Given the description of an element on the screen output the (x, y) to click on. 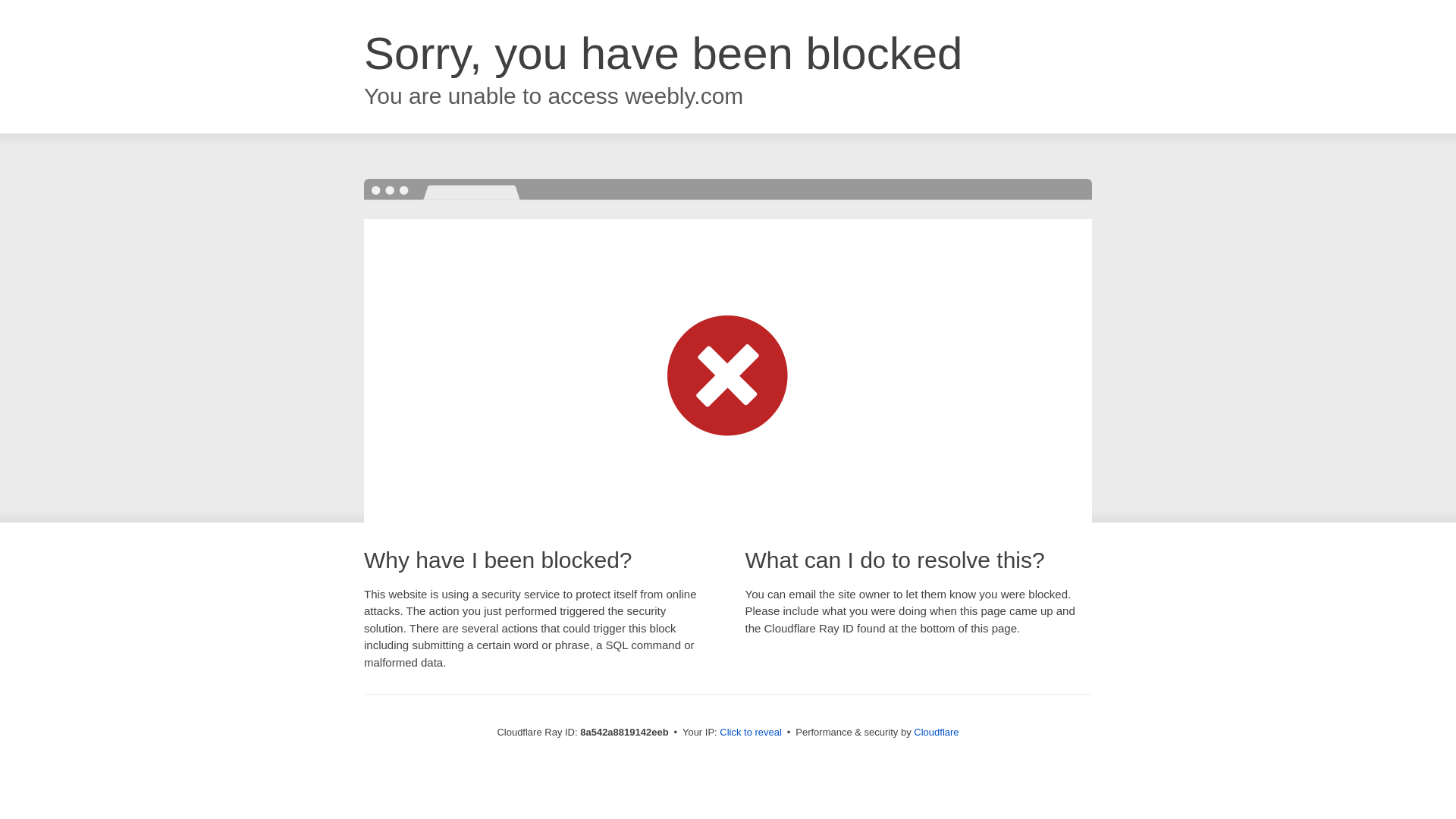
Click to reveal (750, 732)
Cloudflare (936, 731)
